Given the description of an element on the screen output the (x, y) to click on. 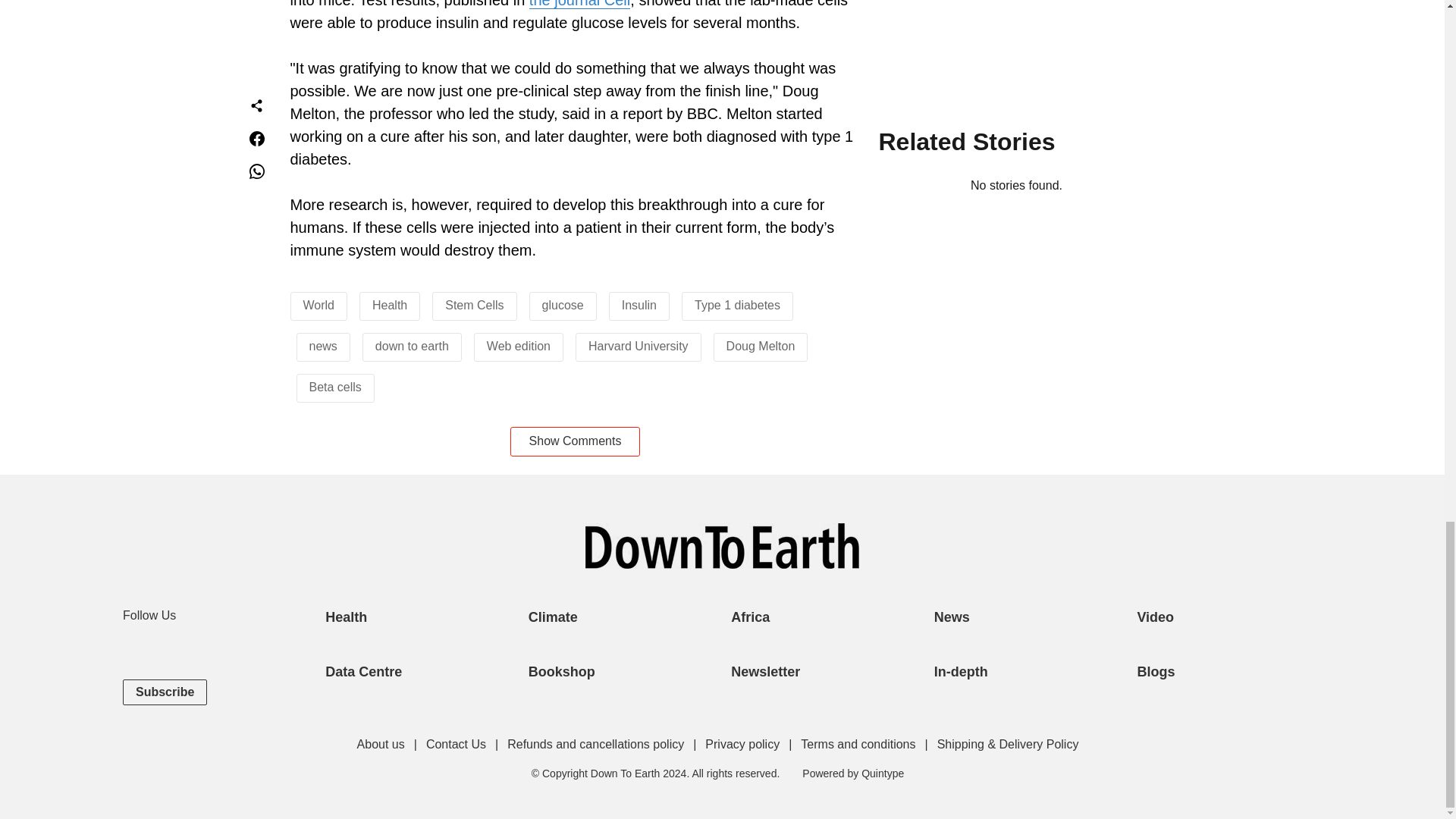
World (318, 305)
the journal Cell (579, 4)
glucose (562, 305)
Stem Cells (474, 305)
Health (389, 305)
